Given the description of an element on the screen output the (x, y) to click on. 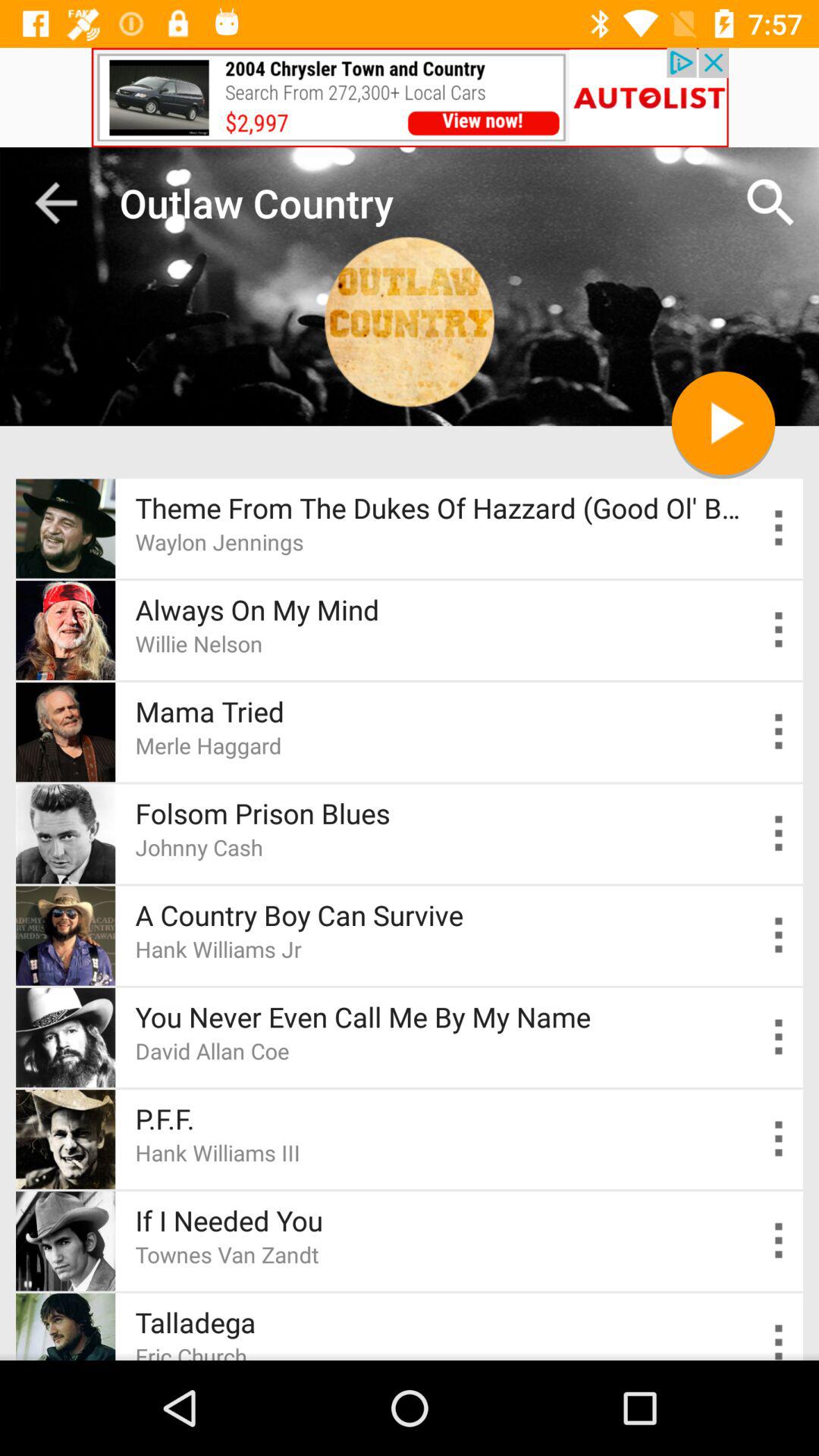
setting the option (779, 1339)
